Given the description of an element on the screen output the (x, y) to click on. 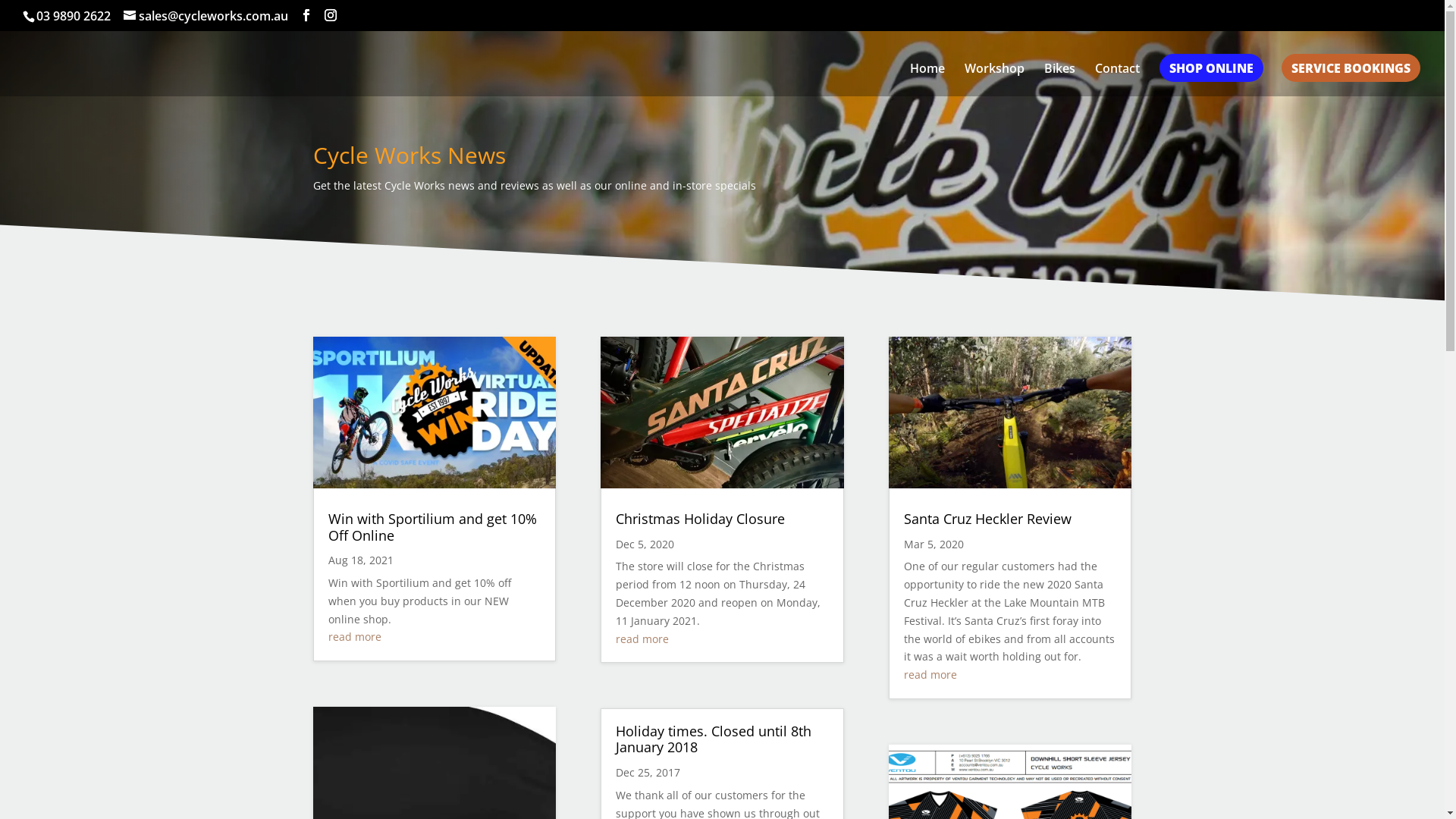
read more Element type: text (353, 636)
Workshop Element type: text (994, 79)
SERVICE BOOKINGS Element type: text (1350, 79)
read more Element type: text (641, 638)
Christmas Holiday Closure Element type: text (699, 518)
Contact Element type: text (1117, 79)
read more Element type: text (930, 674)
Bikes Element type: text (1059, 79)
Home Element type: text (927, 79)
Holiday times. Closed until 8th January 2018 Element type: text (713, 738)
Santa Cruz Heckler Review Element type: text (987, 518)
sales@cycleworks.com.au Element type: text (205, 15)
SHOP ONLINE Element type: text (1211, 79)
Win with Sportilium and get 10% Off Online Element type: text (431, 526)
